Given the description of an element on the screen output the (x, y) to click on. 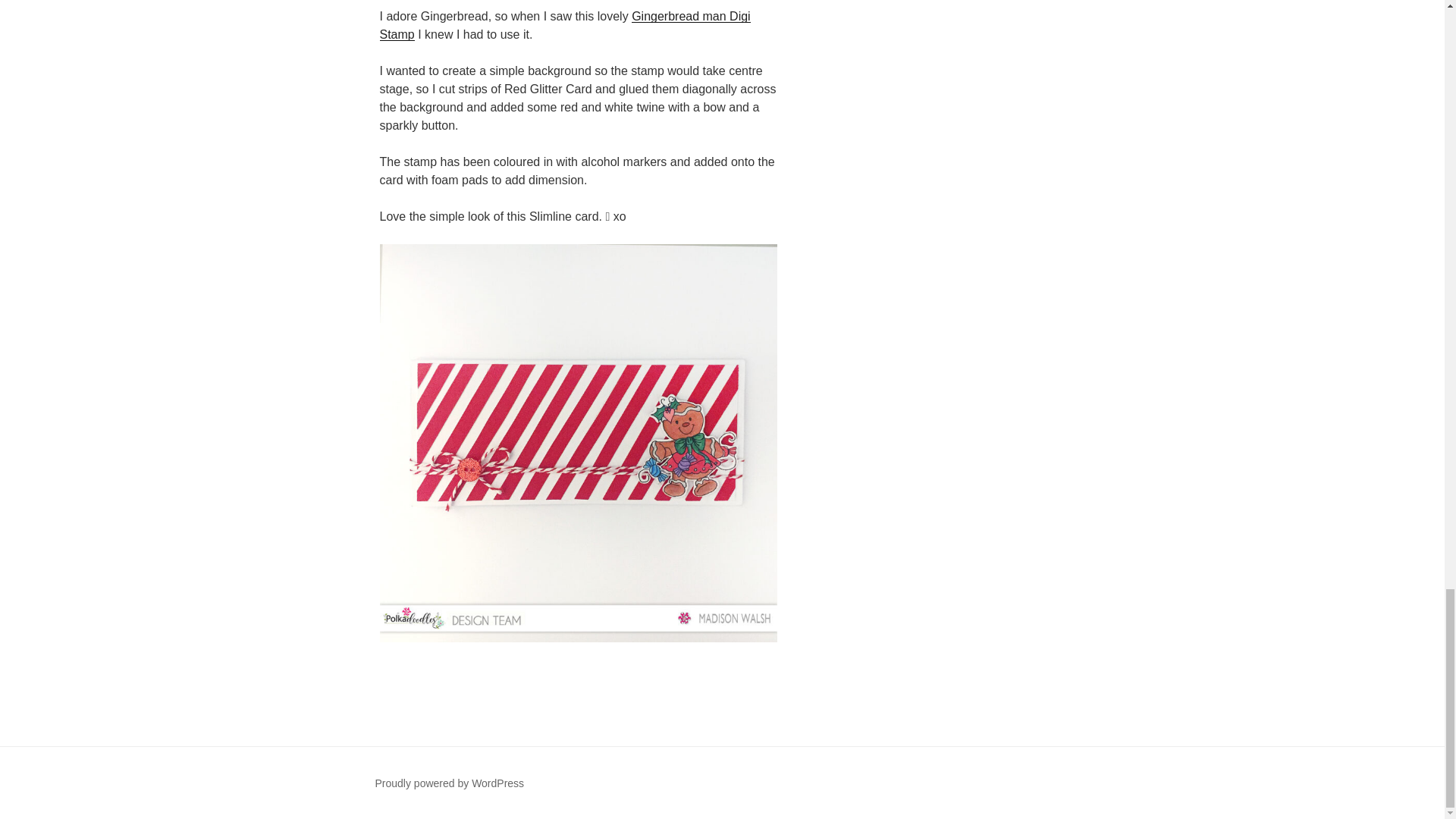
Gingerbread man Digi Stamp (563, 24)
